Given the description of an element on the screen output the (x, y) to click on. 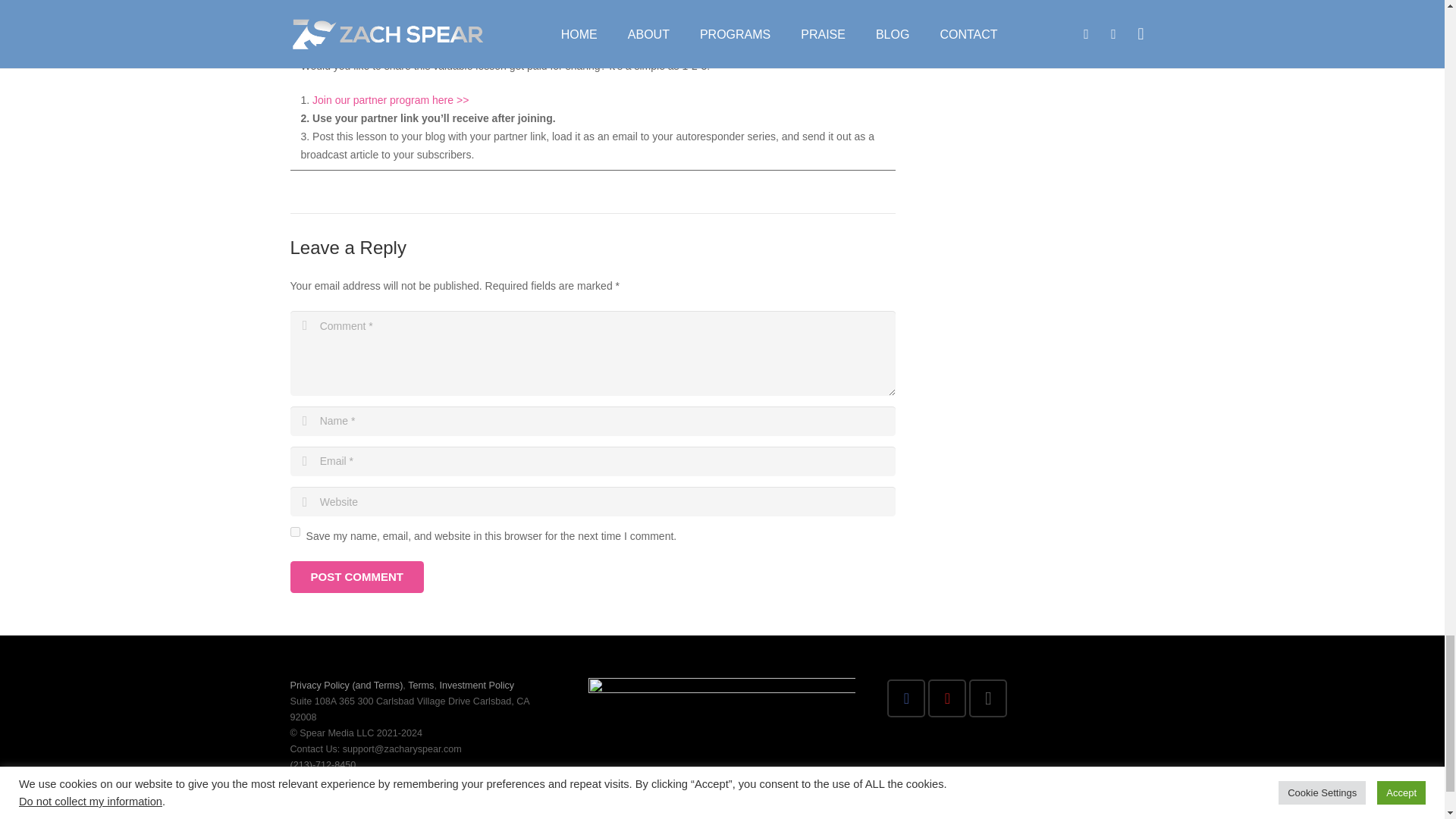
Apply For Our Team (537, 2)
Post Comment (356, 576)
yes (294, 532)
Apply For Our Coaching Program (670, 2)
ClickFunnels (450, 2)
Post Comment (356, 576)
The Perfect MLM Script (355, 2)
